Given the description of an element on the screen output the (x, y) to click on. 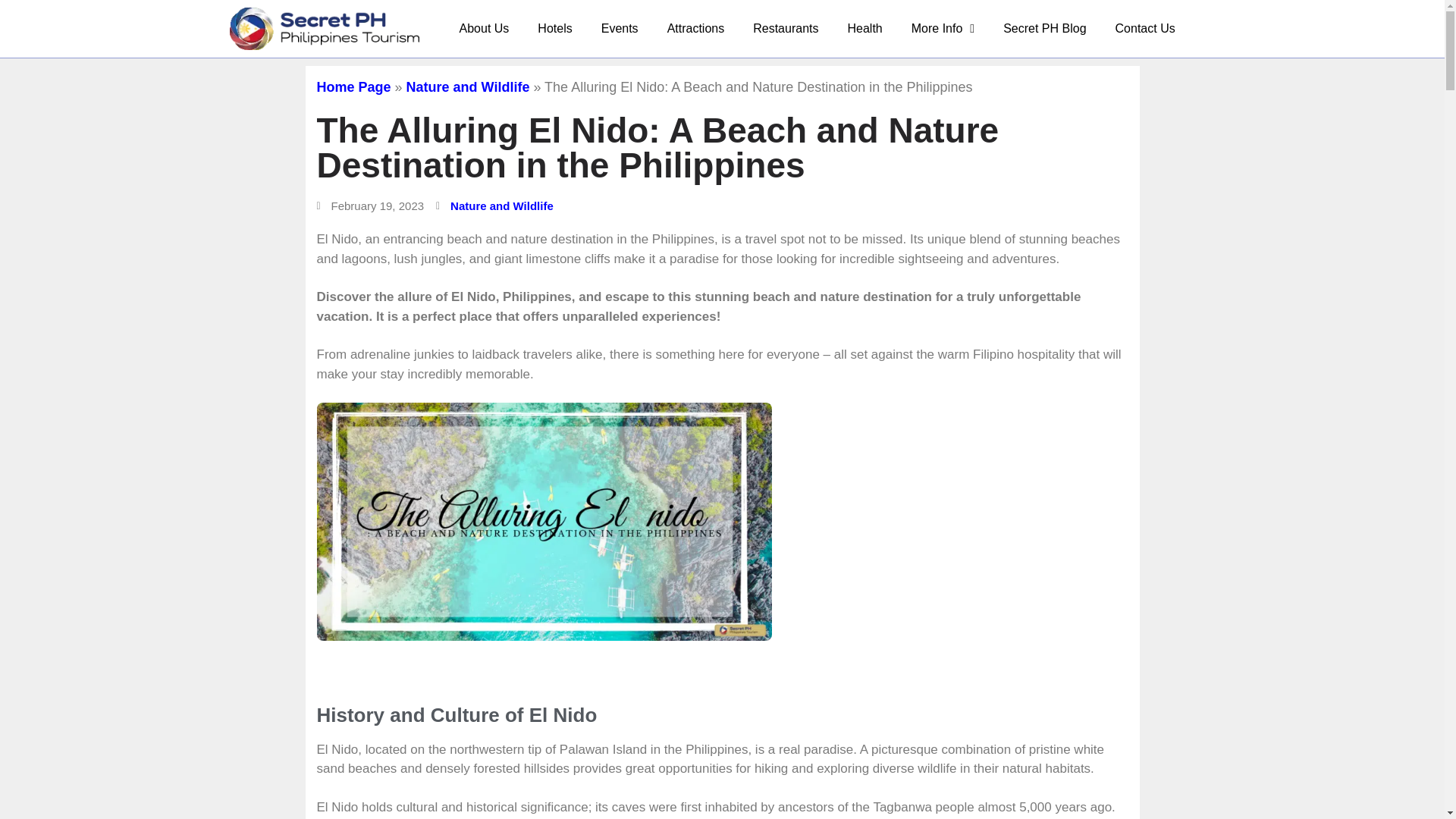
Health (864, 28)
Contact Us (1144, 28)
Events (619, 28)
Restaurants (785, 28)
Attractions (695, 28)
More Info (942, 28)
Hotels (554, 28)
About Us (484, 28)
Secret PH Blog (1044, 28)
